Given the description of an element on the screen output the (x, y) to click on. 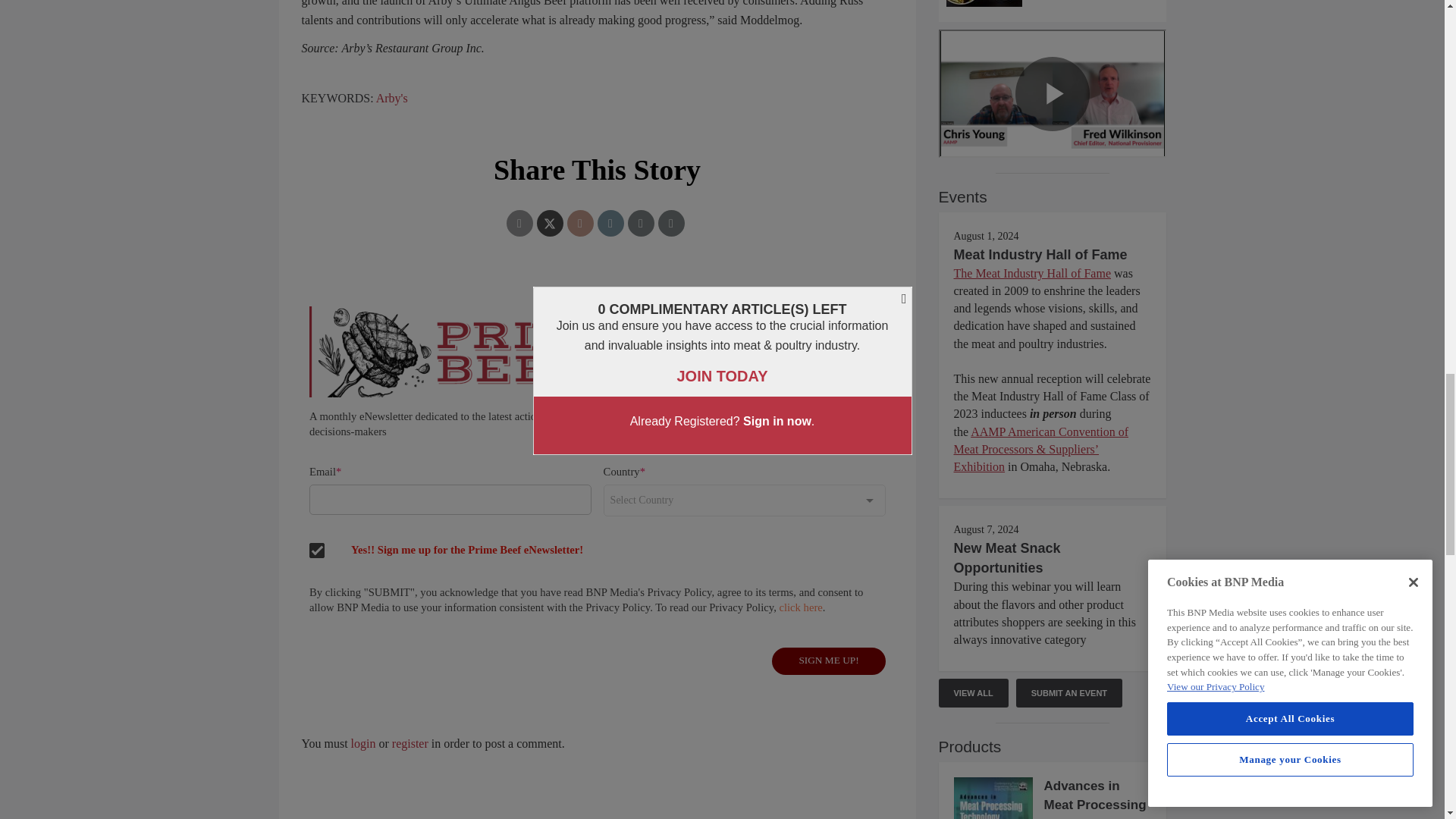
New Meat Snack Opportunities (1007, 557)
Beyond Meat creates new plant-based protein (1052, 3)
Meat Industry Hall of Fame (1039, 254)
